Given the description of an element on the screen output the (x, y) to click on. 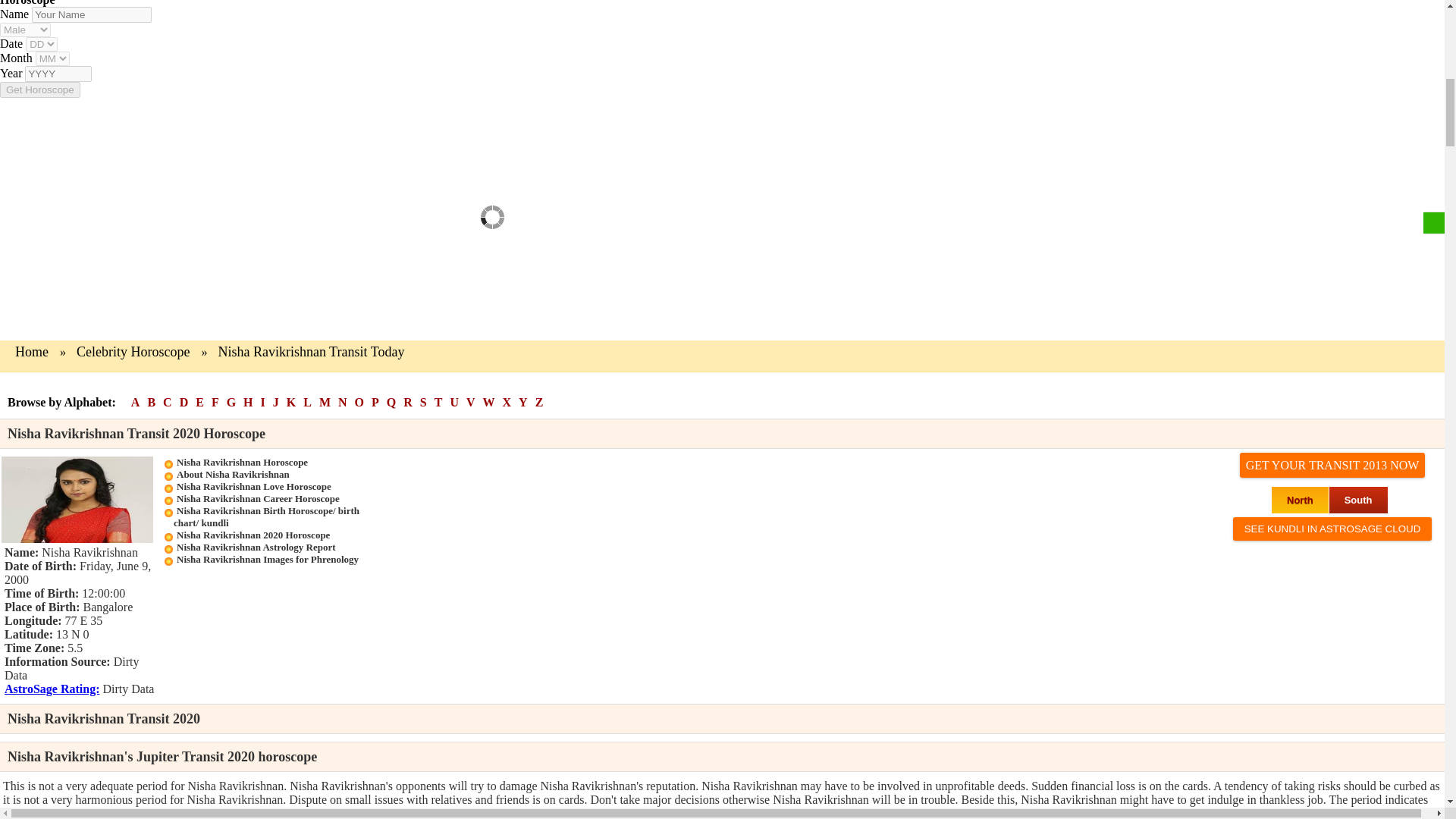
See kundli in AstroSage Cloud (1332, 528)
